Given the description of an element on the screen output the (x, y) to click on. 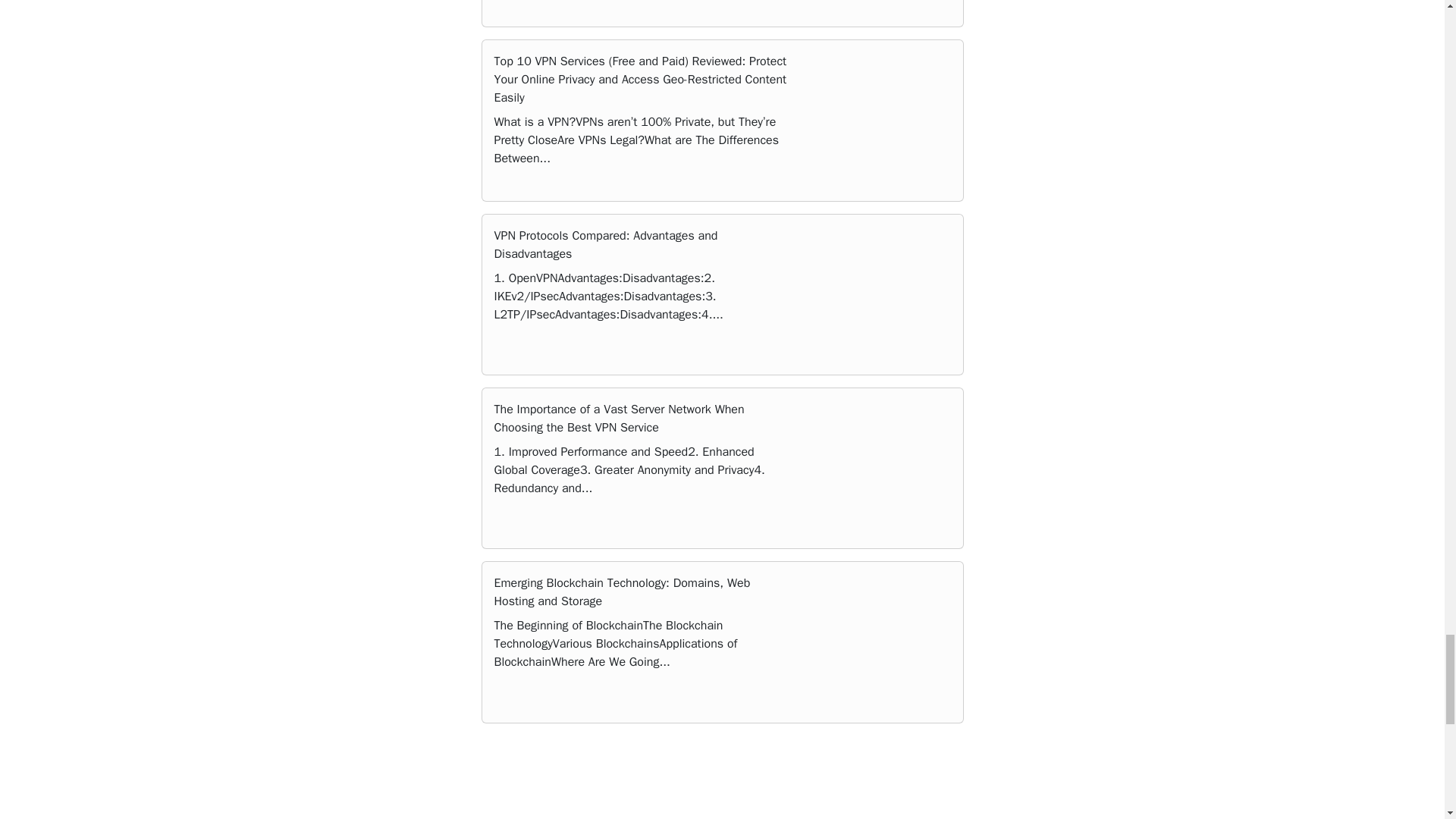
VPN Protocols Compared: Advantages and Disadvantages (606, 244)
VPN Protocols Compared: Advantages and Disadvantages (606, 244)
